Given the description of an element on the screen output the (x, y) to click on. 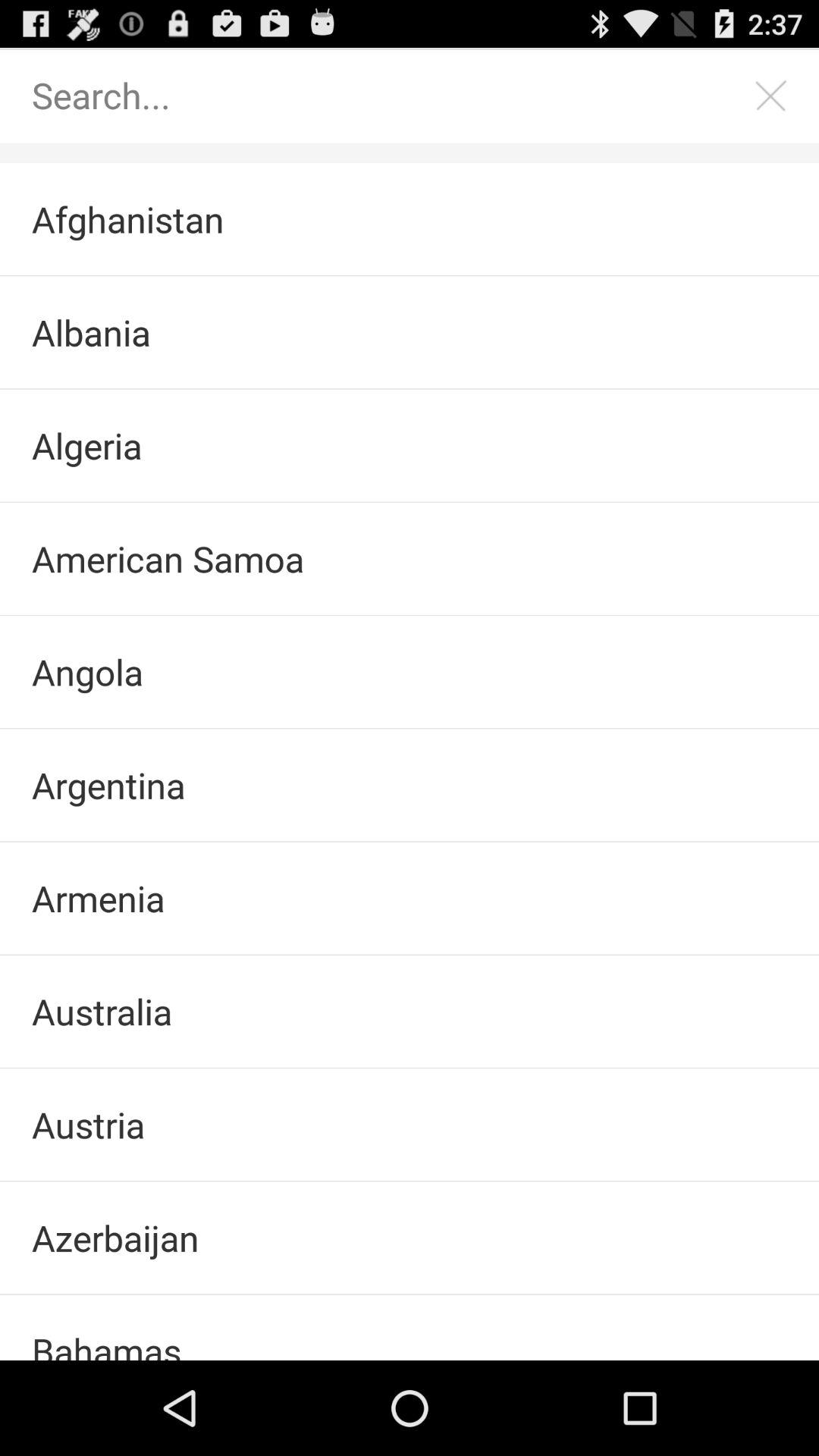
flip to afghanistan (409, 219)
